Given the description of an element on the screen output the (x, y) to click on. 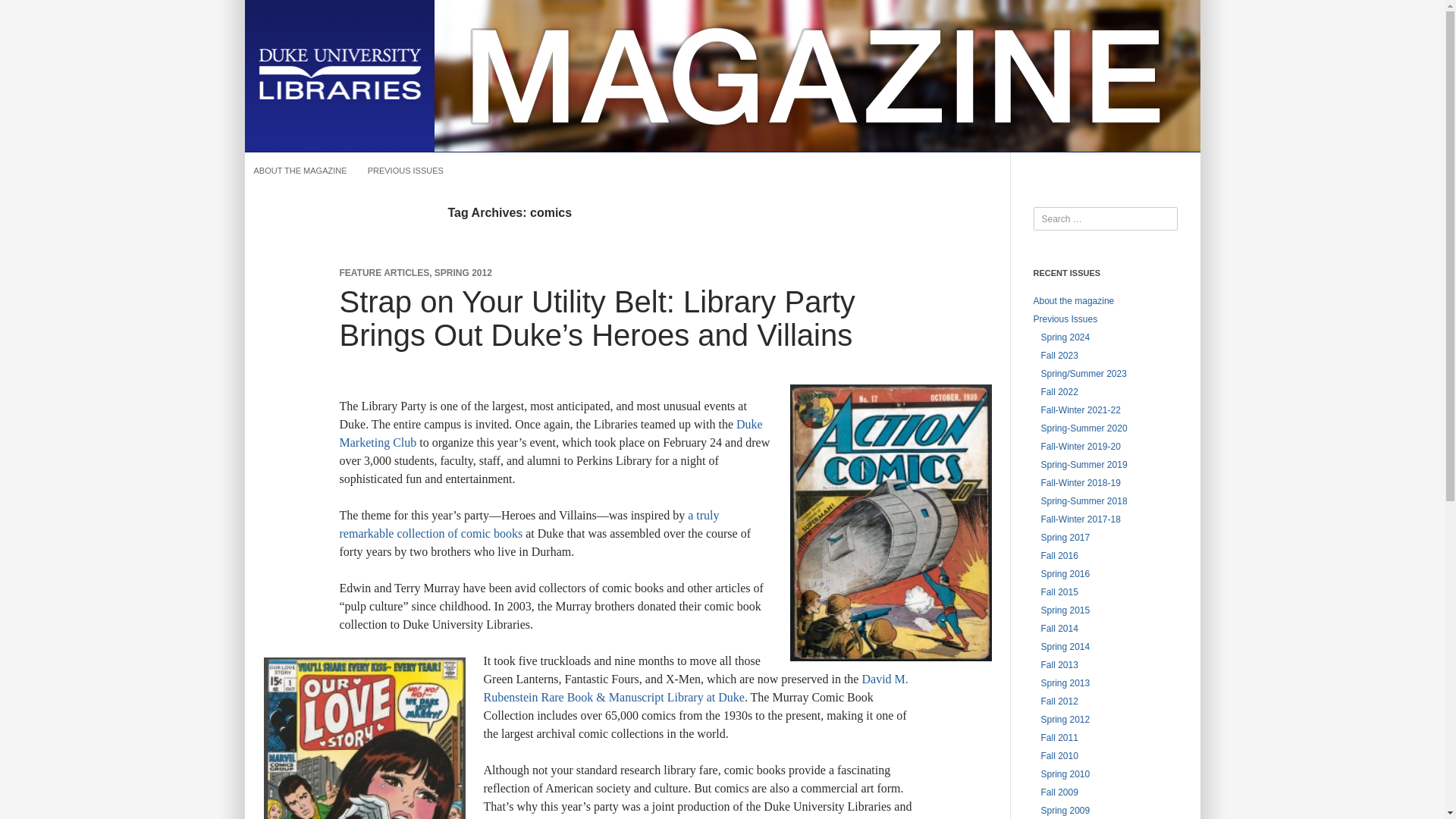
Fall 2023 (1059, 355)
Duke University Libraries (338, 74)
Spring 2016 (1065, 573)
a truly remarkable collection of comic books (529, 523)
FEATURE ARTICLES (384, 272)
Fall 2022 (1059, 391)
Previous Issues (1064, 318)
Spring 2015 (1065, 610)
Duke Marketing Club (550, 432)
PREVIOUS ISSUES (405, 170)
SPRING 2012 (462, 272)
Spring 2024 (1065, 337)
Spring-Summer 2020 (1083, 428)
Fall-Winter 2019-20 (1080, 446)
